Given the description of an element on the screen output the (x, y) to click on. 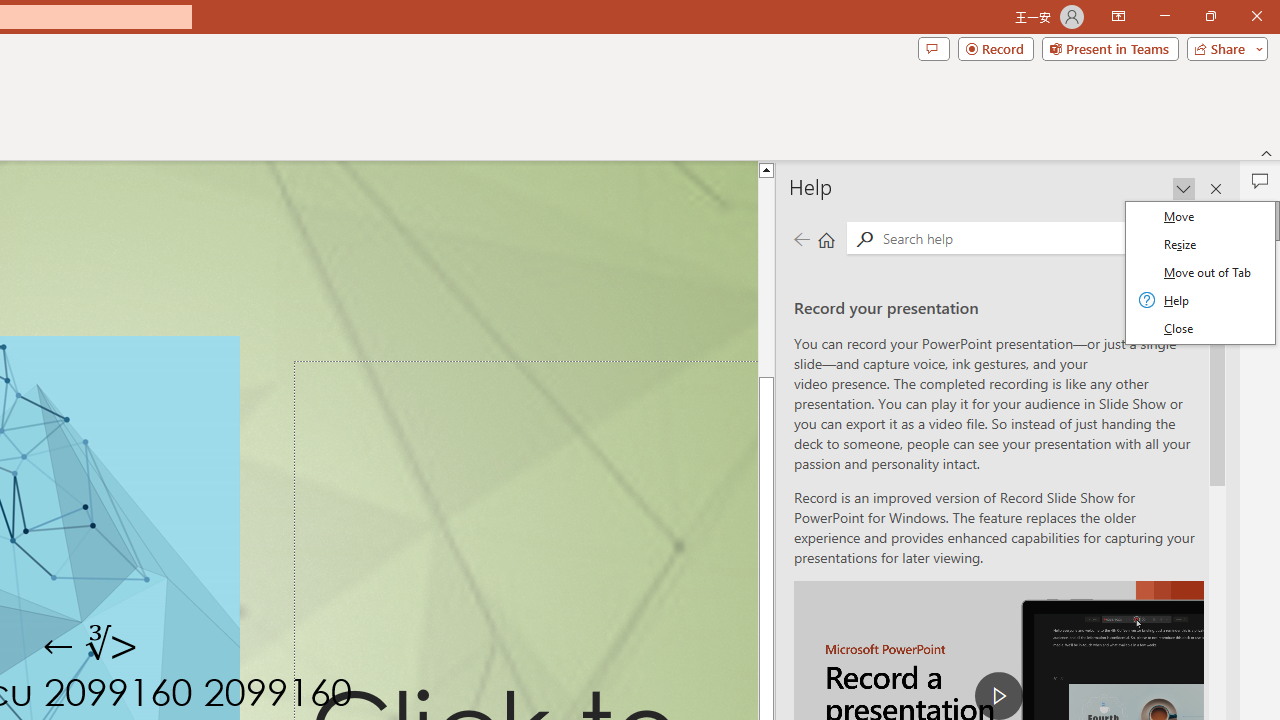
Previous page (801, 238)
Class: Net UI Tool Window (1200, 272)
TextBox 7 (91, 645)
